Given the description of an element on the screen output the (x, y) to click on. 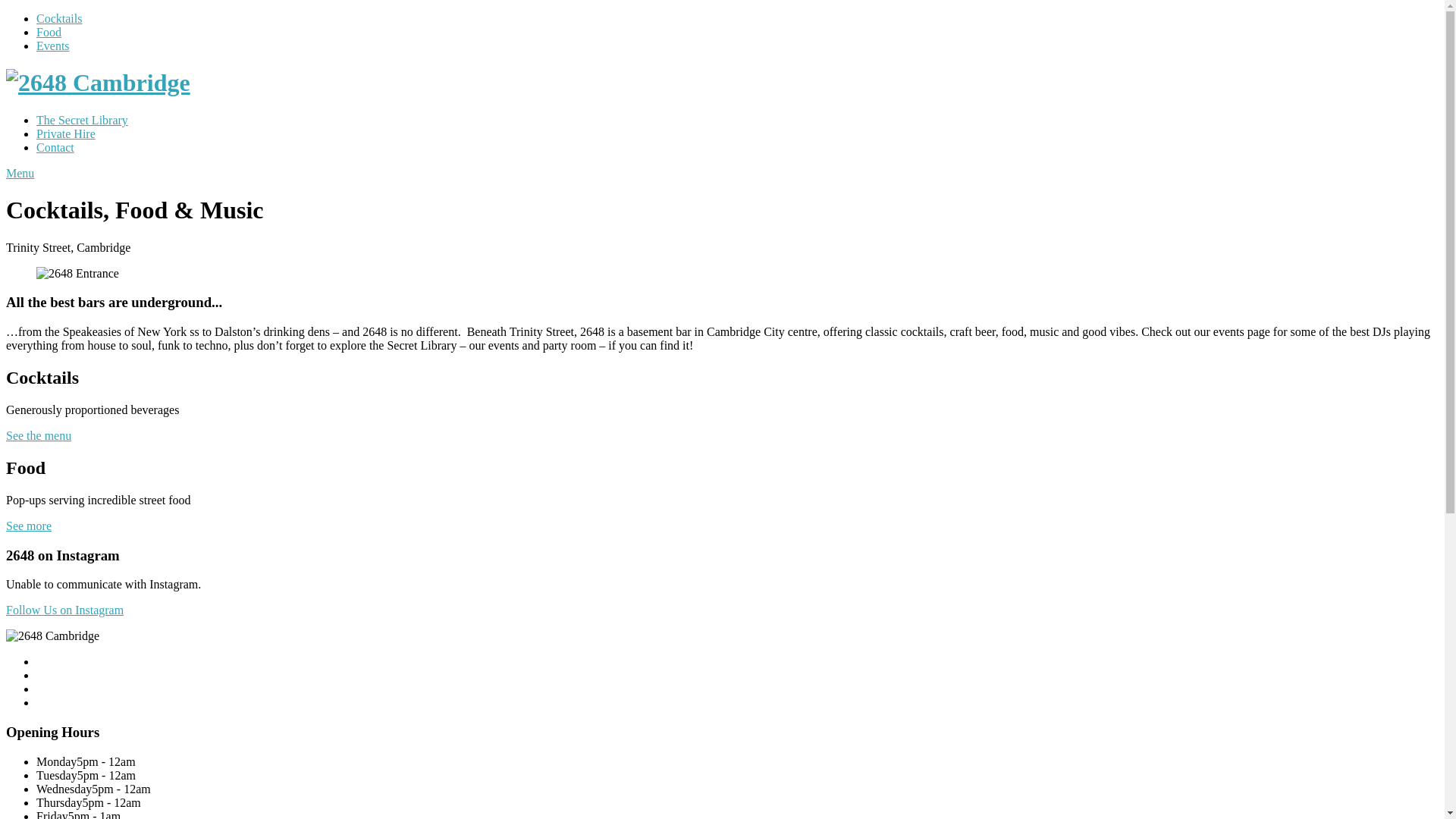
Menu Element type: text (20, 172)
Private Hire Element type: text (65, 133)
Contact Element type: text (55, 147)
See more Element type: text (28, 525)
Events Element type: text (52, 45)
The Secret Library Element type: text (82, 119)
See the menu Element type: text (38, 435)
Cocktails Element type: text (58, 18)
Follow Us on Instagram Element type: text (64, 609)
Food Element type: text (48, 31)
